Given the description of an element on the screen output the (x, y) to click on. 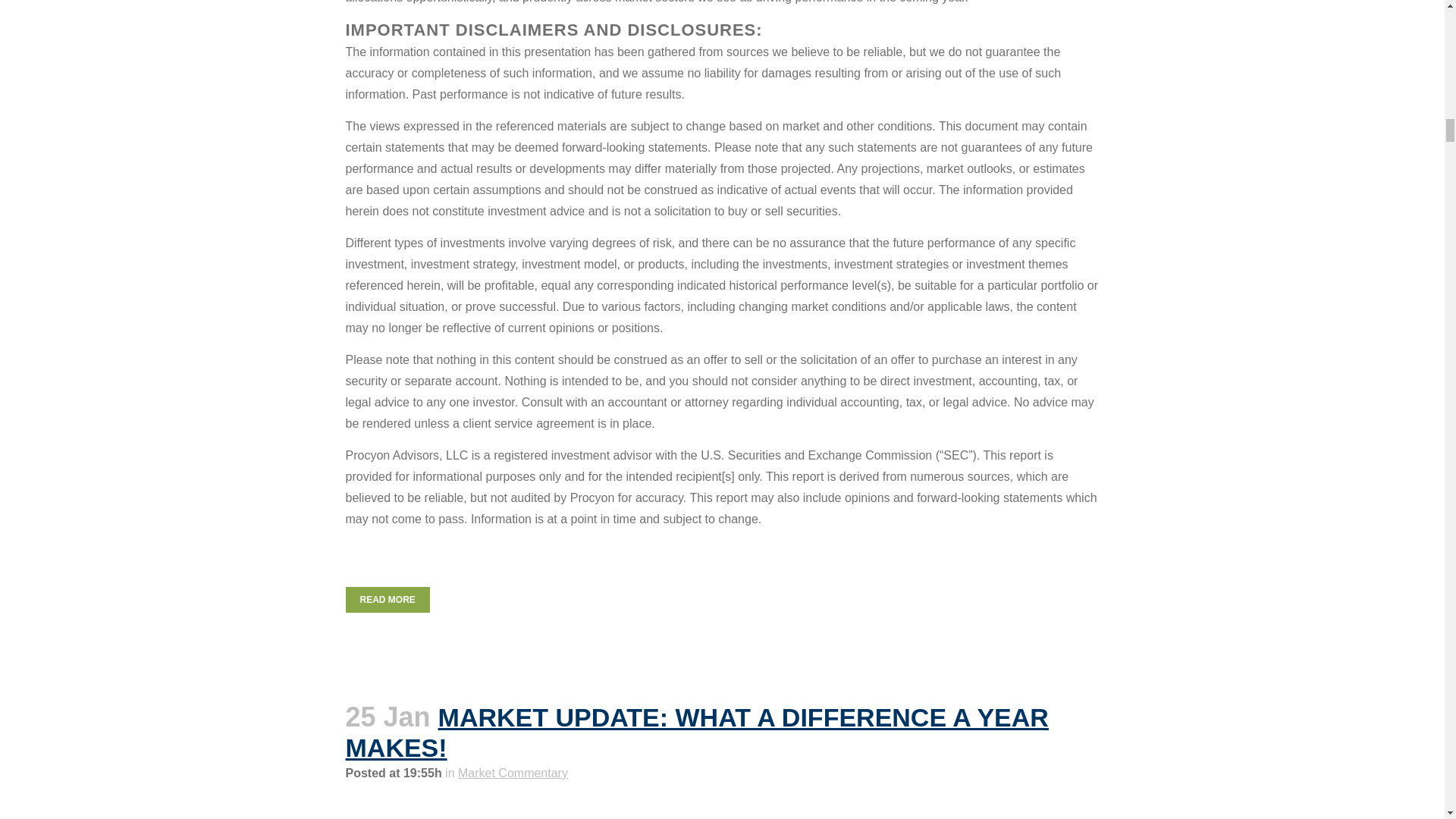
READ MORE (387, 599)
MARKET UPDATE: WHAT A DIFFERENCE A YEAR MAKES! (697, 732)
MARKET UPDATE: WHAT A DIFFERENCE A YEAR MAKES! (697, 732)
Market Commentary (512, 772)
